Given the description of an element on the screen output the (x, y) to click on. 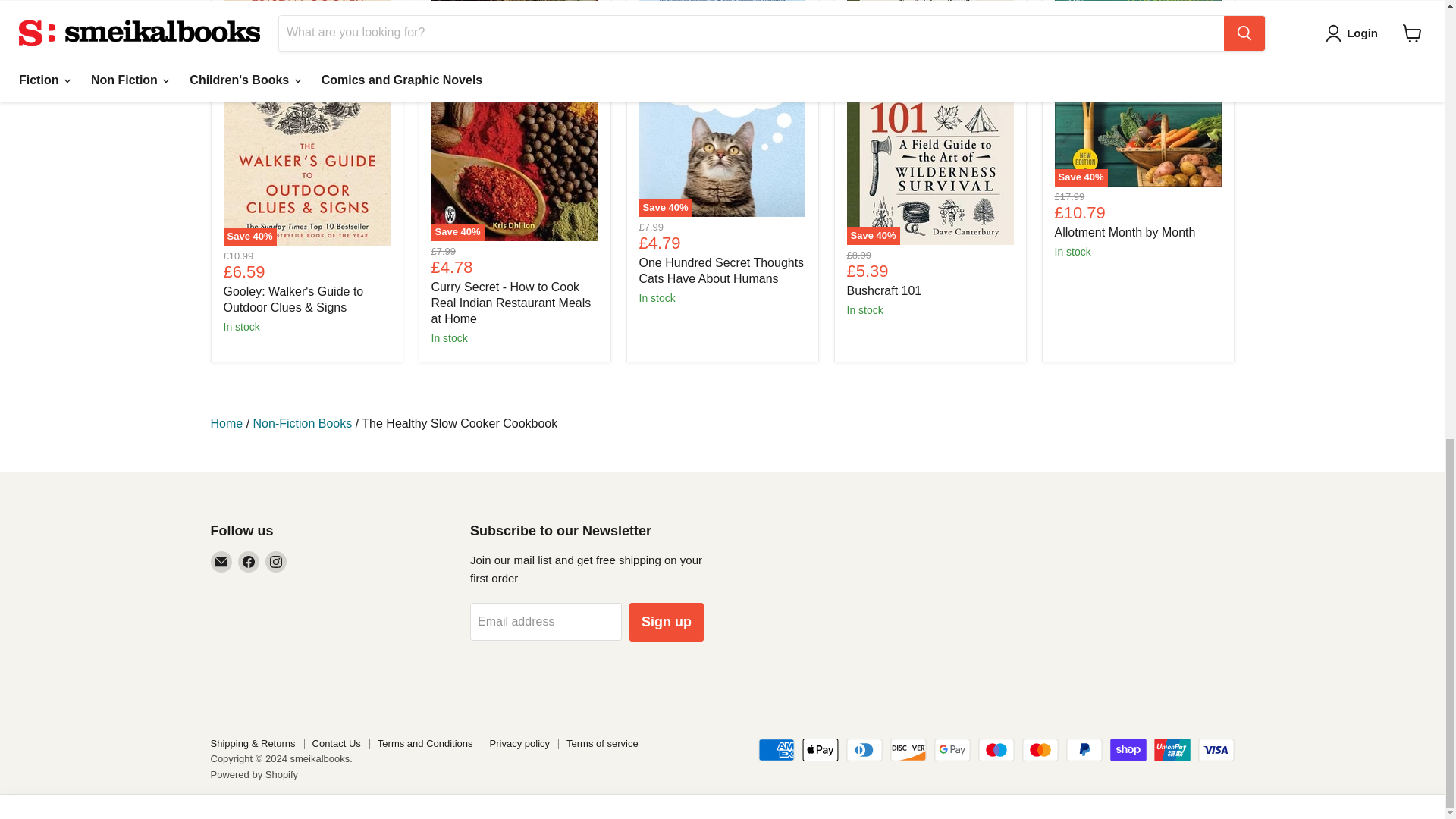
Email (221, 561)
Facebook (248, 561)
Apple Pay (820, 749)
Instagram (275, 561)
American Express (776, 749)
Diners Club (863, 749)
Discover (907, 749)
